Given the description of an element on the screen output the (x, y) to click on. 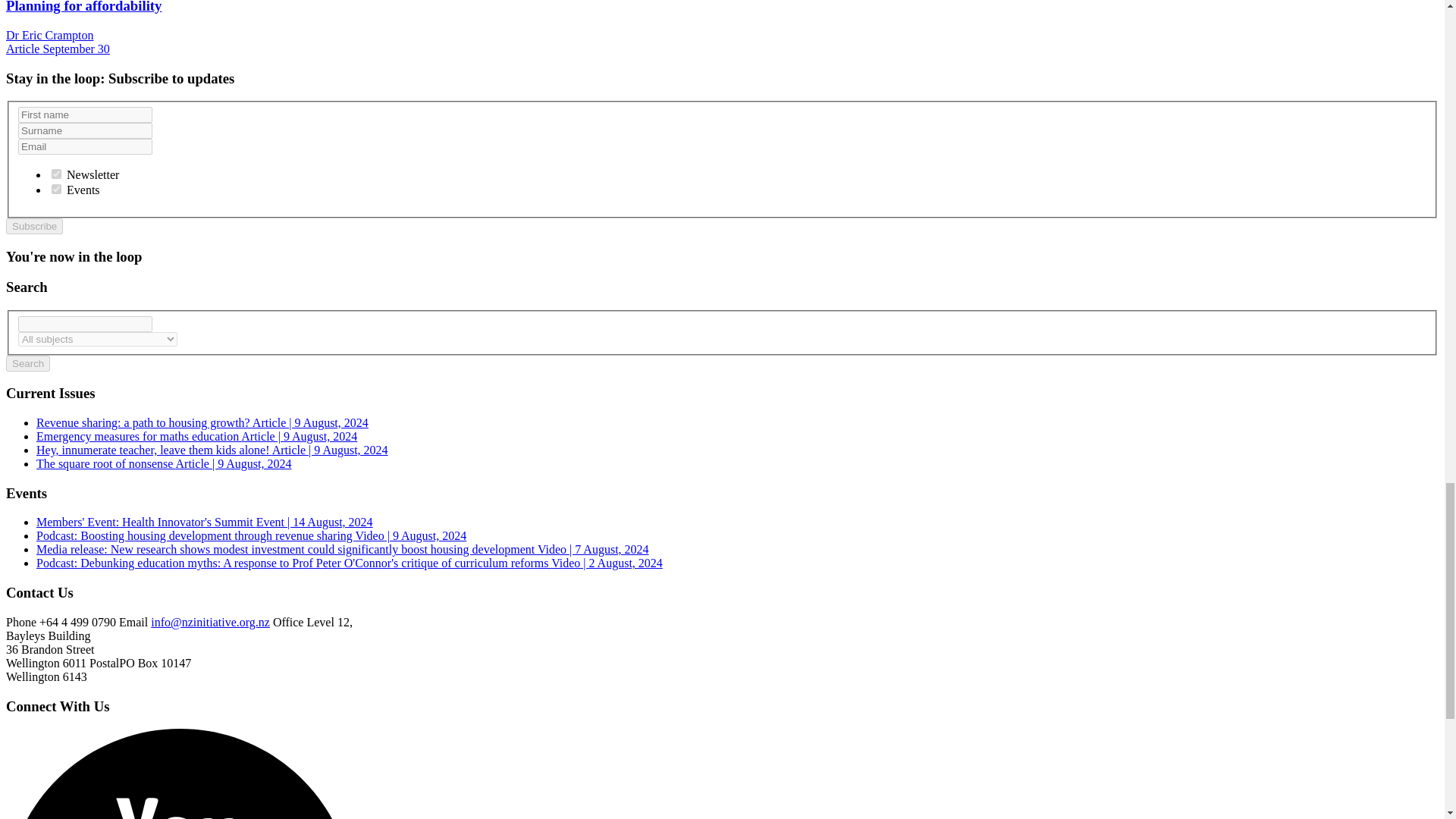
The square root of nonsense (163, 463)
Hey, innumerate teacher, leave them kids alone! (212, 449)
Search (27, 363)
Revenue sharing: a path to housing growth? (202, 422)
Subscribe (33, 226)
Members' Event: Health Innovator's Summit (204, 521)
Emergency measures for maths education (196, 436)
